Given the description of an element on the screen output the (x, y) to click on. 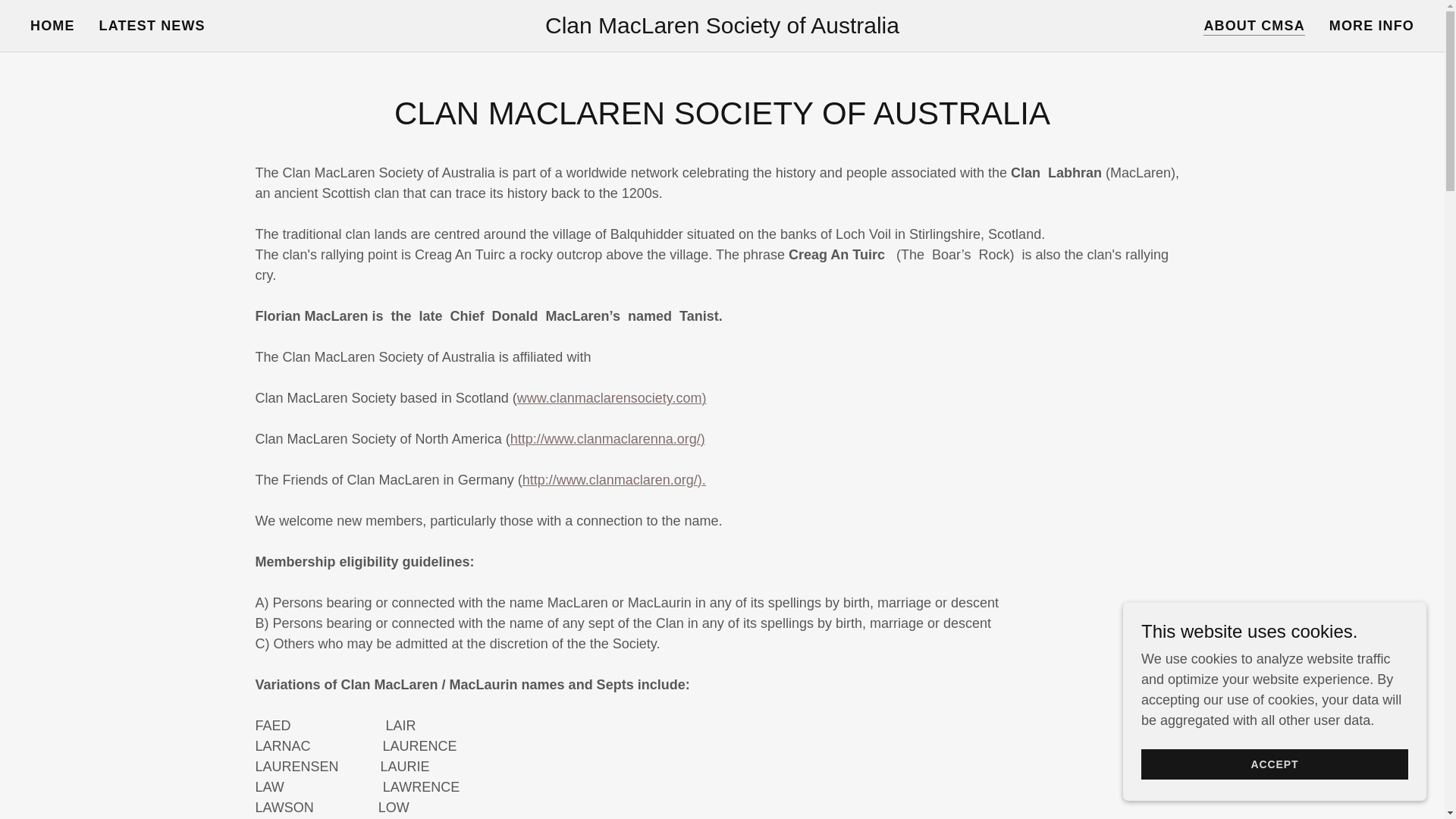
ABOUT CMSA (1254, 26)
Clan MacLaren Society of Australia (722, 28)
MORE INFO (1371, 25)
HOME (53, 25)
LATEST NEWS (151, 25)
Clan MacLaren Society of Australia (722, 28)
www.clanmaclarensociety.com (608, 397)
